Given the description of an element on the screen output the (x, y) to click on. 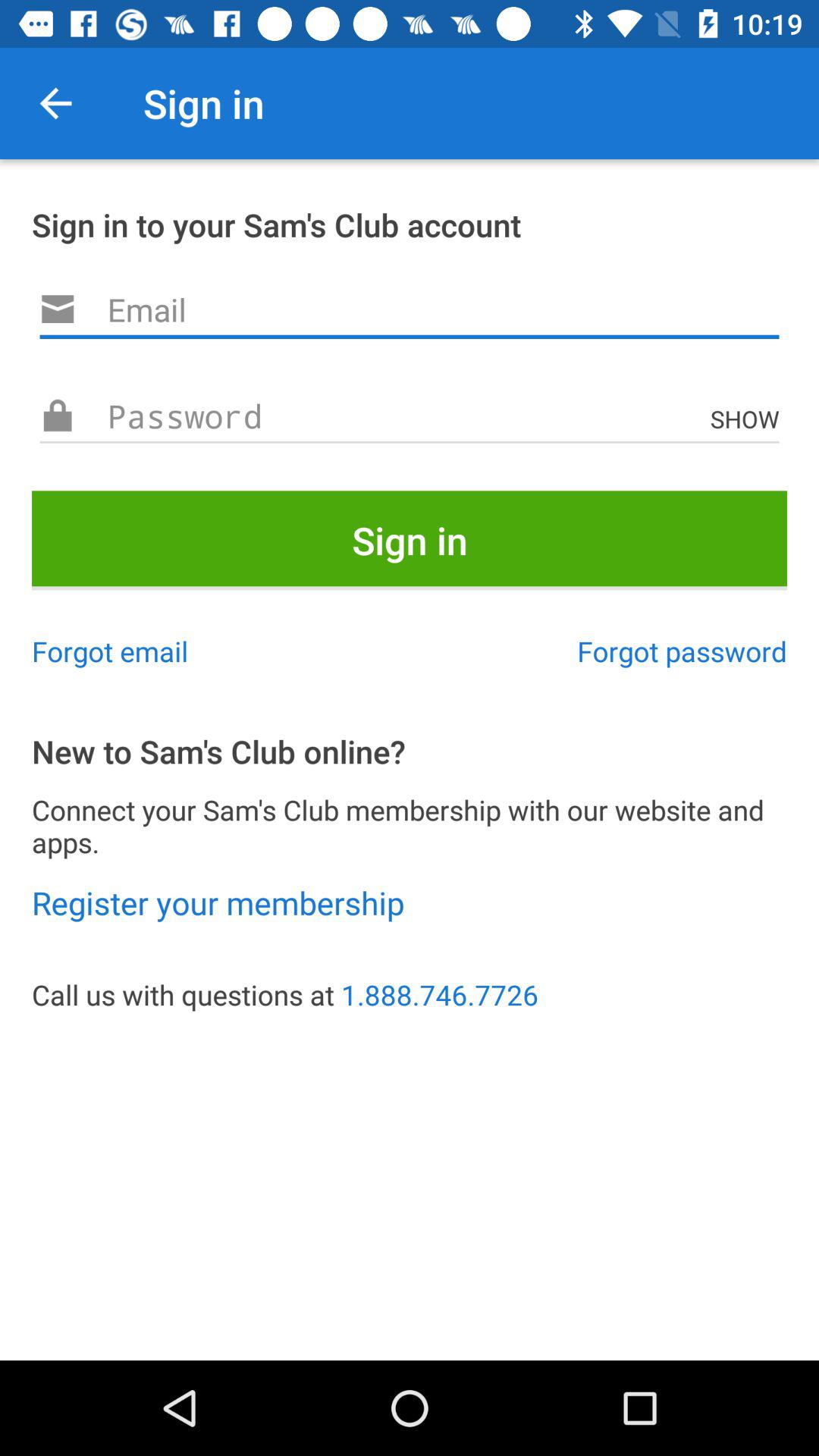
open icon to the left of sign in (55, 103)
